Given the description of an element on the screen output the (x, y) to click on. 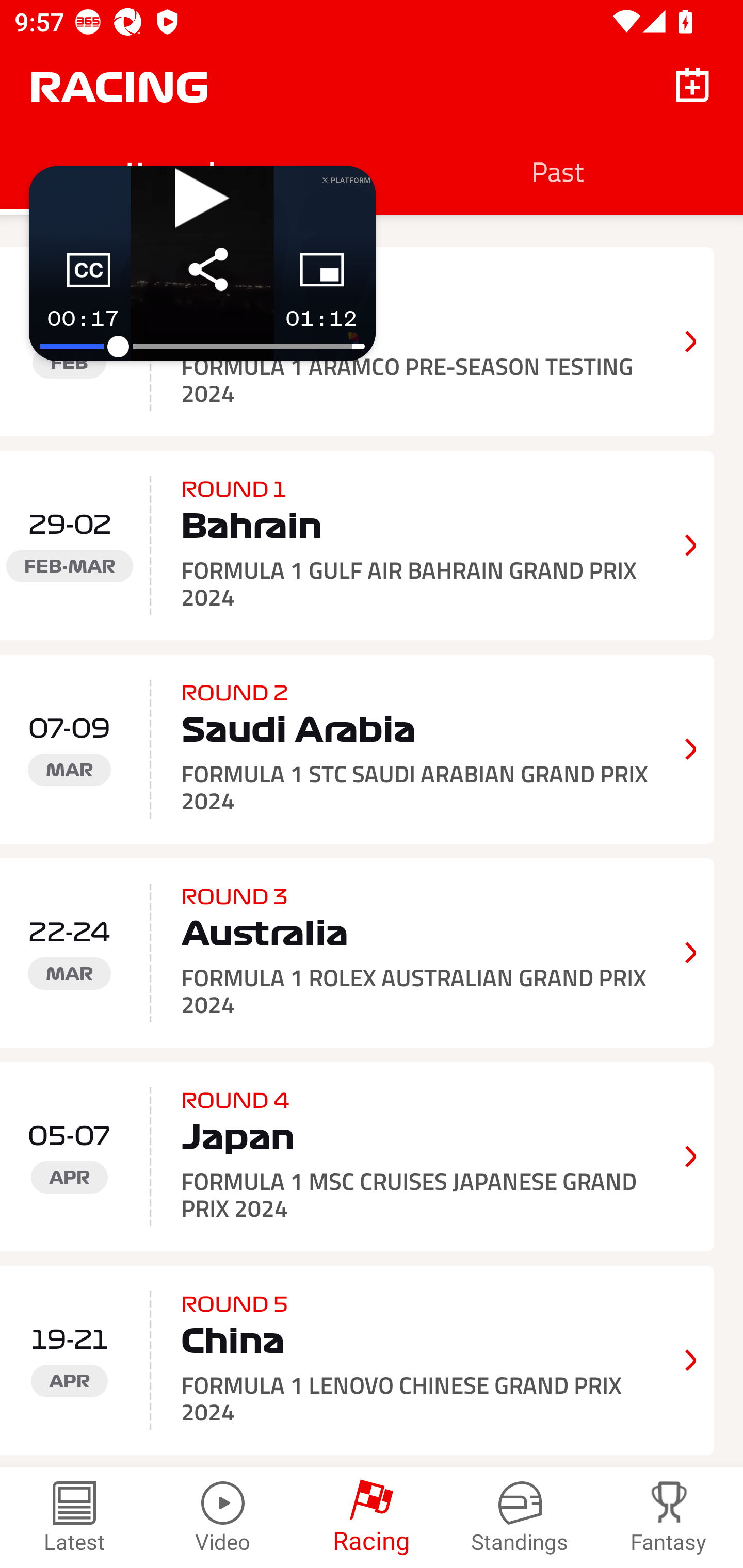
Past (557, 171)
Latest (74, 1517)
Video (222, 1517)
Standings (519, 1517)
Fantasy (668, 1517)
